Given the description of an element on the screen output the (x, y) to click on. 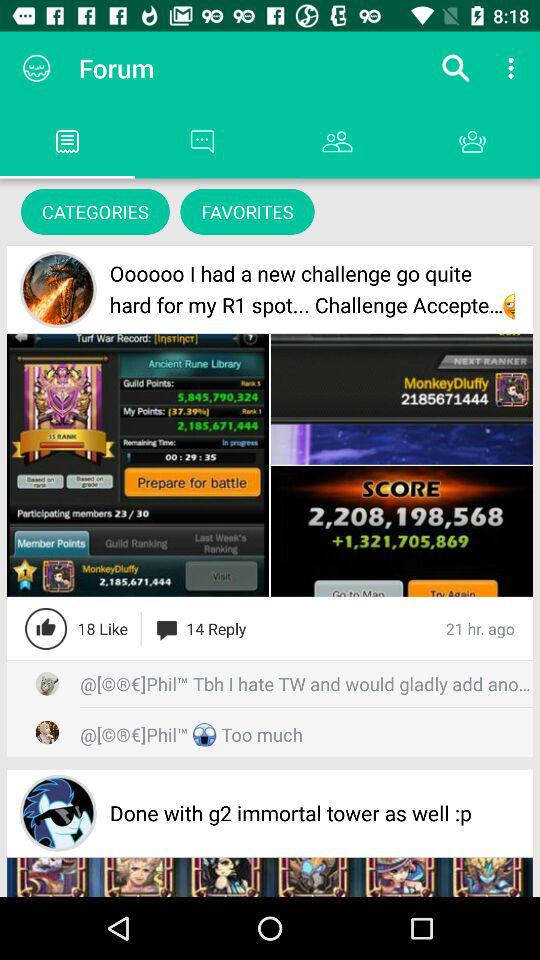
select the favorites (247, 211)
